Given the description of an element on the screen output the (x, y) to click on. 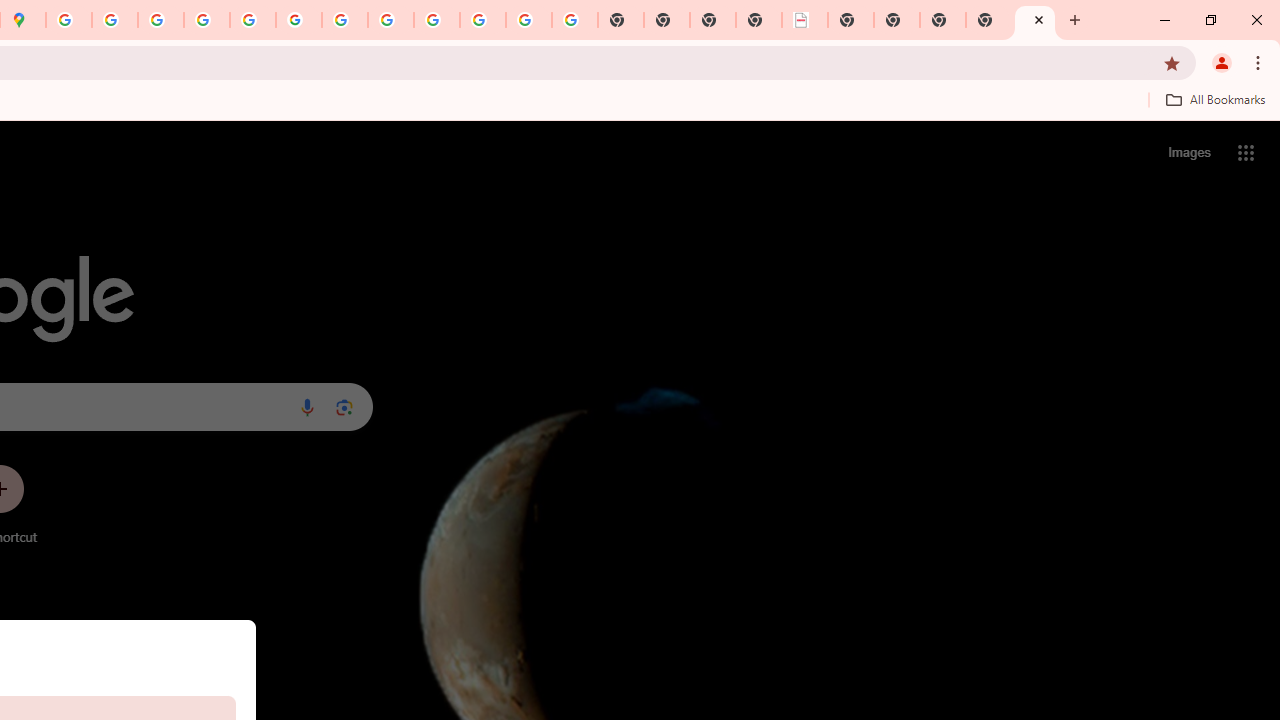
New Tab (1035, 20)
YouTube (345, 20)
LAAD Defence & Security 2025 | BAE Systems (805, 20)
Sign in - Google Accounts (69, 20)
